Given the description of an element on the screen output the (x, y) to click on. 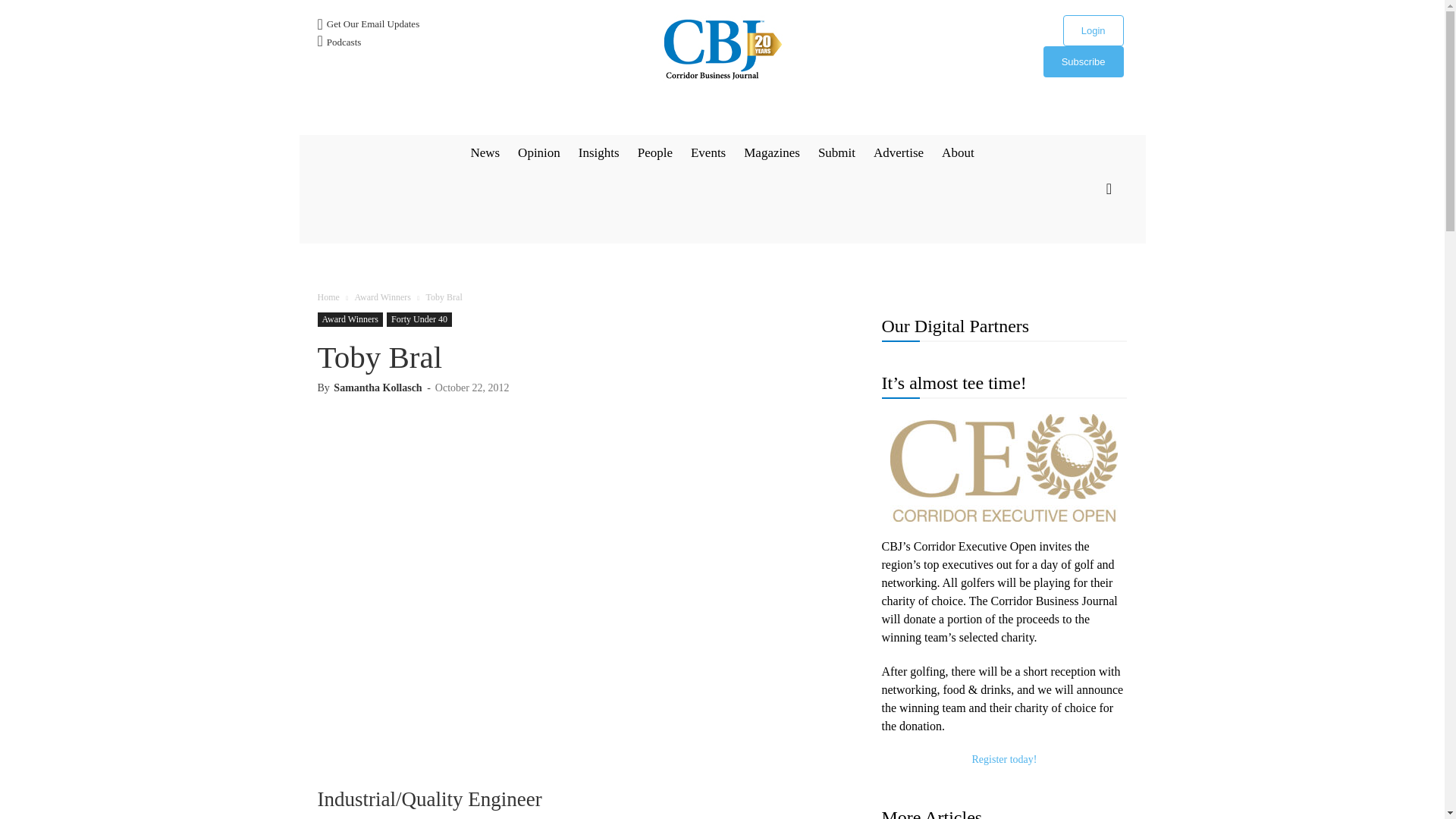
Subscribe (1083, 60)
Business News for Iowa City and Cedar Rapids (721, 49)
Business News for Iowa City and Cedar Rapids (722, 49)
Login (1093, 30)
